Given the description of an element on the screen output the (x, y) to click on. 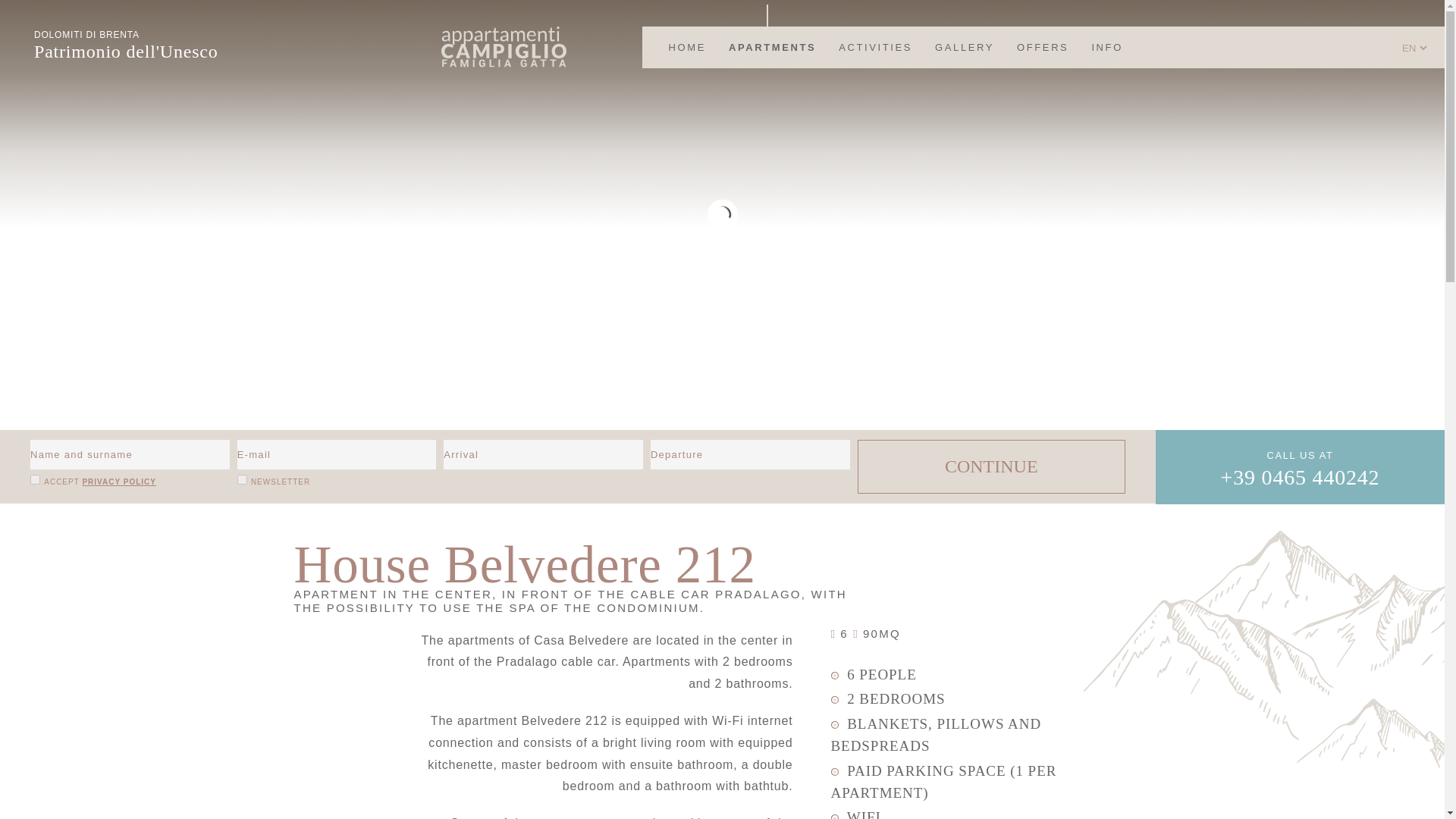
OFFERS (1043, 47)
GALLERY (964, 47)
ACTIVITIES (875, 47)
on (35, 479)
APARTMENTS (772, 47)
Continue (991, 466)
INFO (1107, 47)
on (242, 479)
Continue (991, 466)
